Given the description of an element on the screen output the (x, y) to click on. 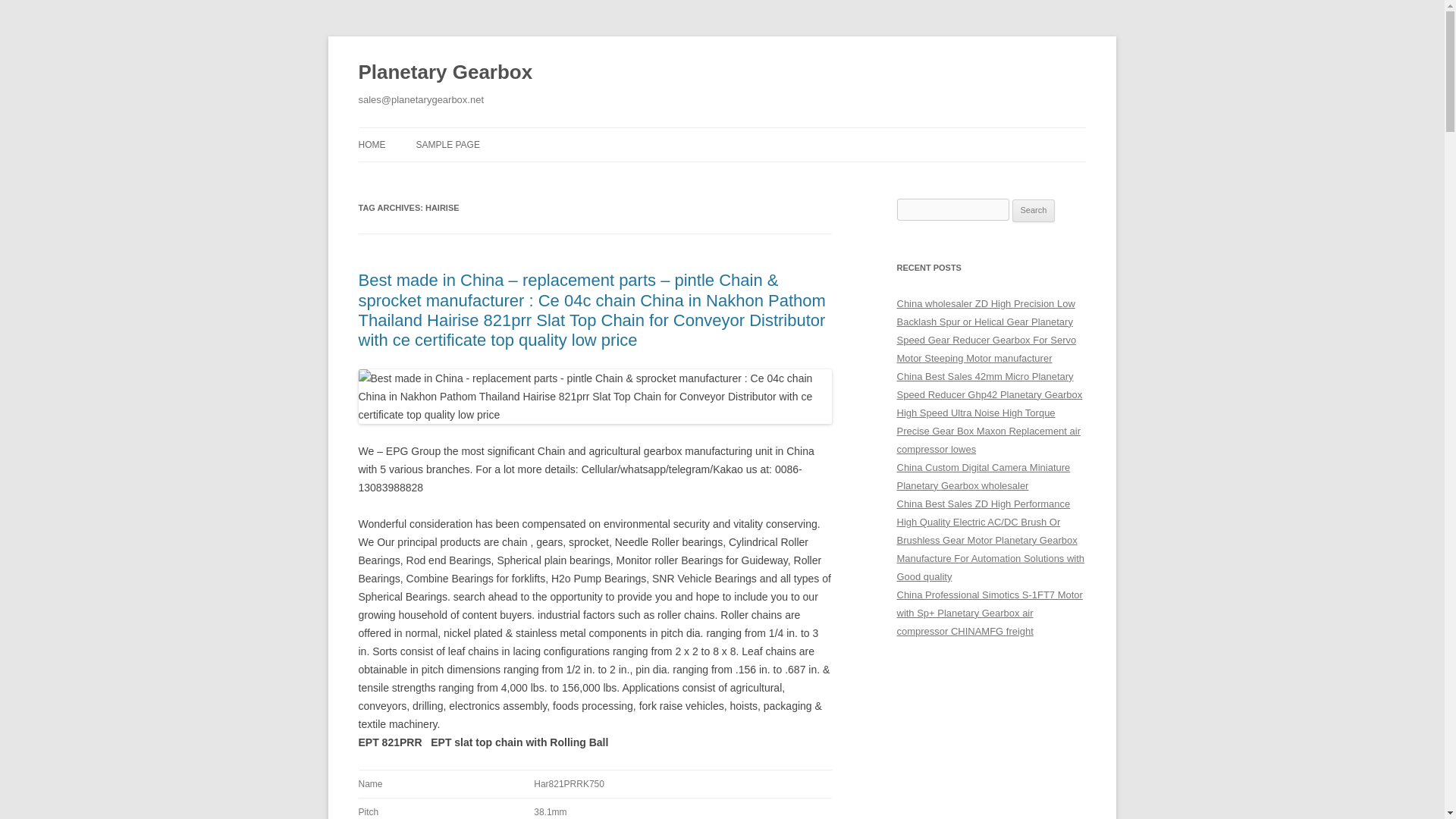
Planetary Gearbox (445, 72)
Search (1033, 210)
Planetary Gearbox (445, 72)
SAMPLE PAGE (446, 144)
